Given the description of an element on the screen output the (x, y) to click on. 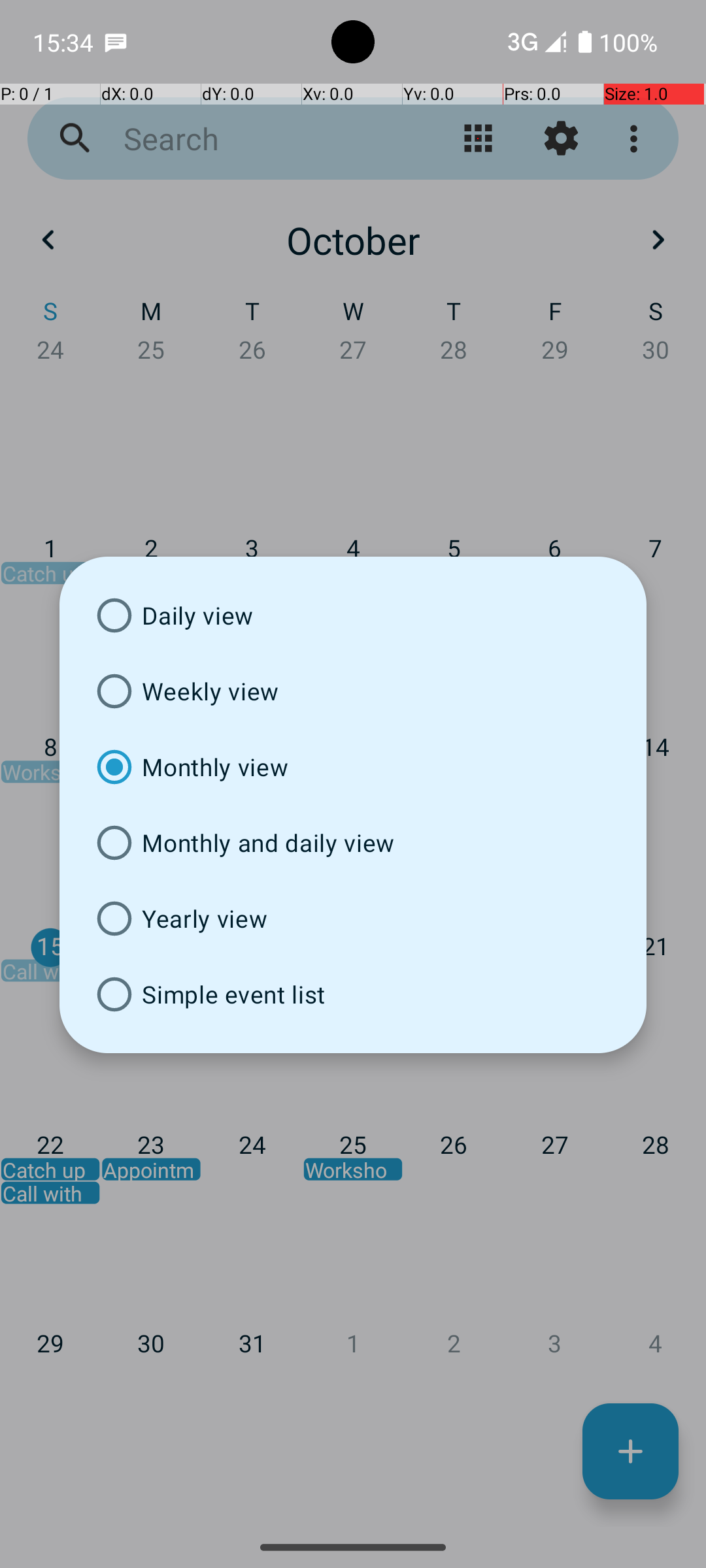
Daily view Element type: android.widget.RadioButton (352, 615)
Weekly view Element type: android.widget.RadioButton (352, 691)
Monthly view Element type: android.widget.RadioButton (352, 766)
Monthly and daily view Element type: android.widget.RadioButton (352, 842)
Yearly view Element type: android.widget.RadioButton (352, 918)
Simple event list Element type: android.widget.RadioButton (352, 994)
